Given the description of an element on the screen output the (x, y) to click on. 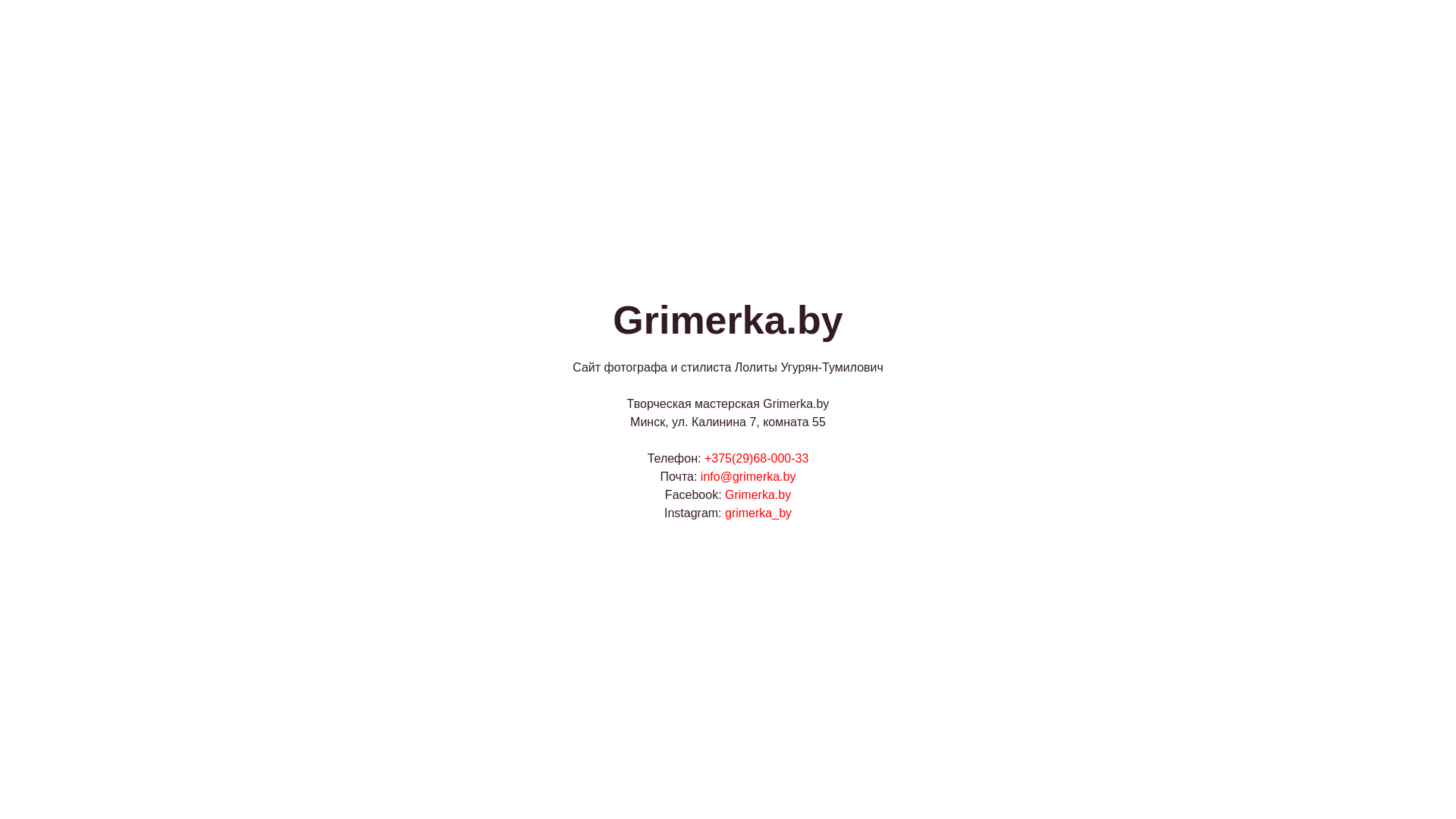
Grimerka.by Element type: text (757, 494)
grimerka_by Element type: text (757, 512)
+375(29)68-000-33 Element type: text (756, 457)
info@grimerka.by Element type: text (748, 476)
